Given the description of an element on the screen output the (x, y) to click on. 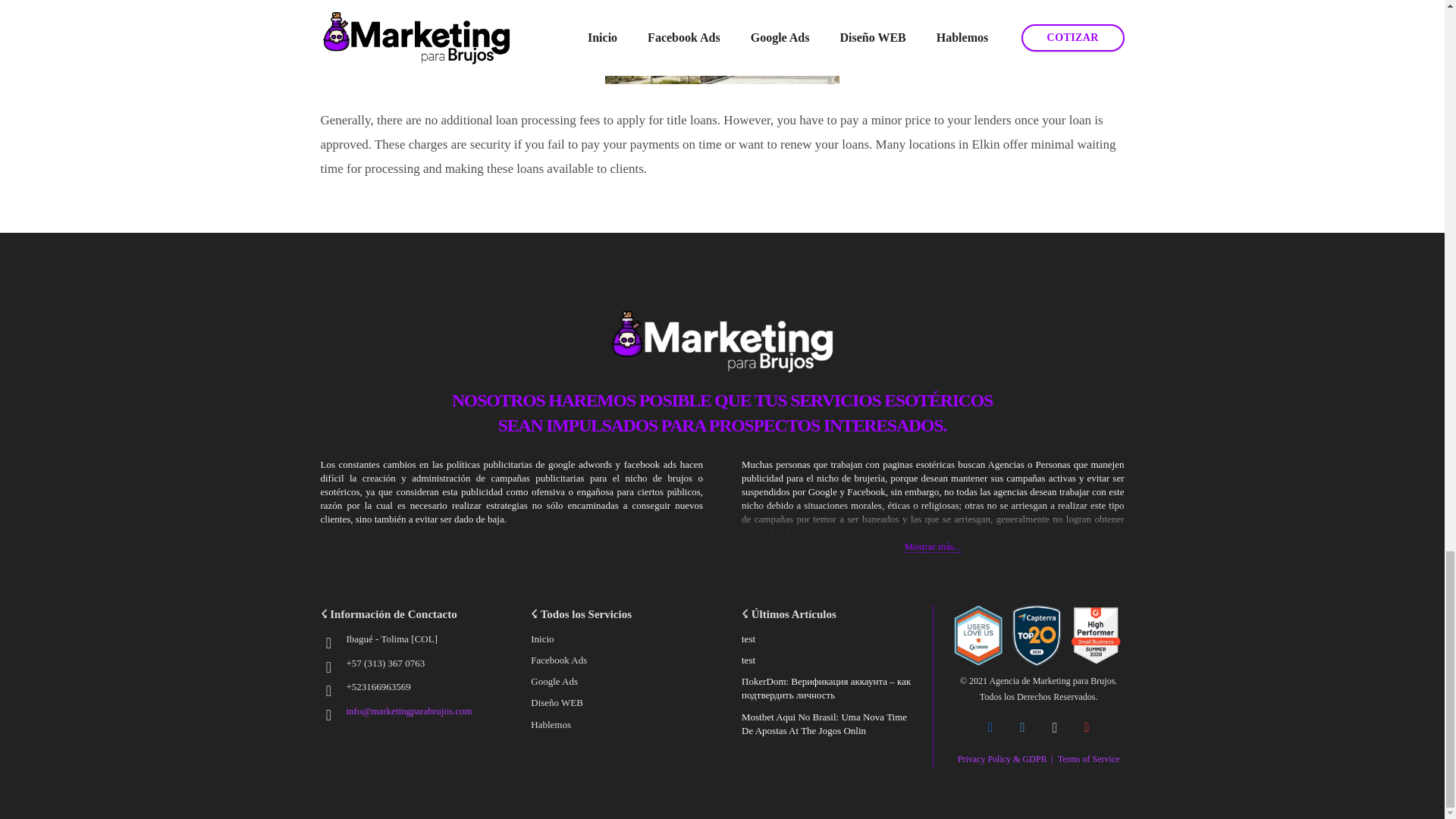
test (748, 638)
Instagram (1055, 727)
Twitter (1022, 727)
Terms of Service (1088, 758)
Hablemos (550, 724)
Facebook (990, 727)
Inicio (542, 638)
test (748, 659)
Google (1086, 727)
